Given the description of an element on the screen output the (x, y) to click on. 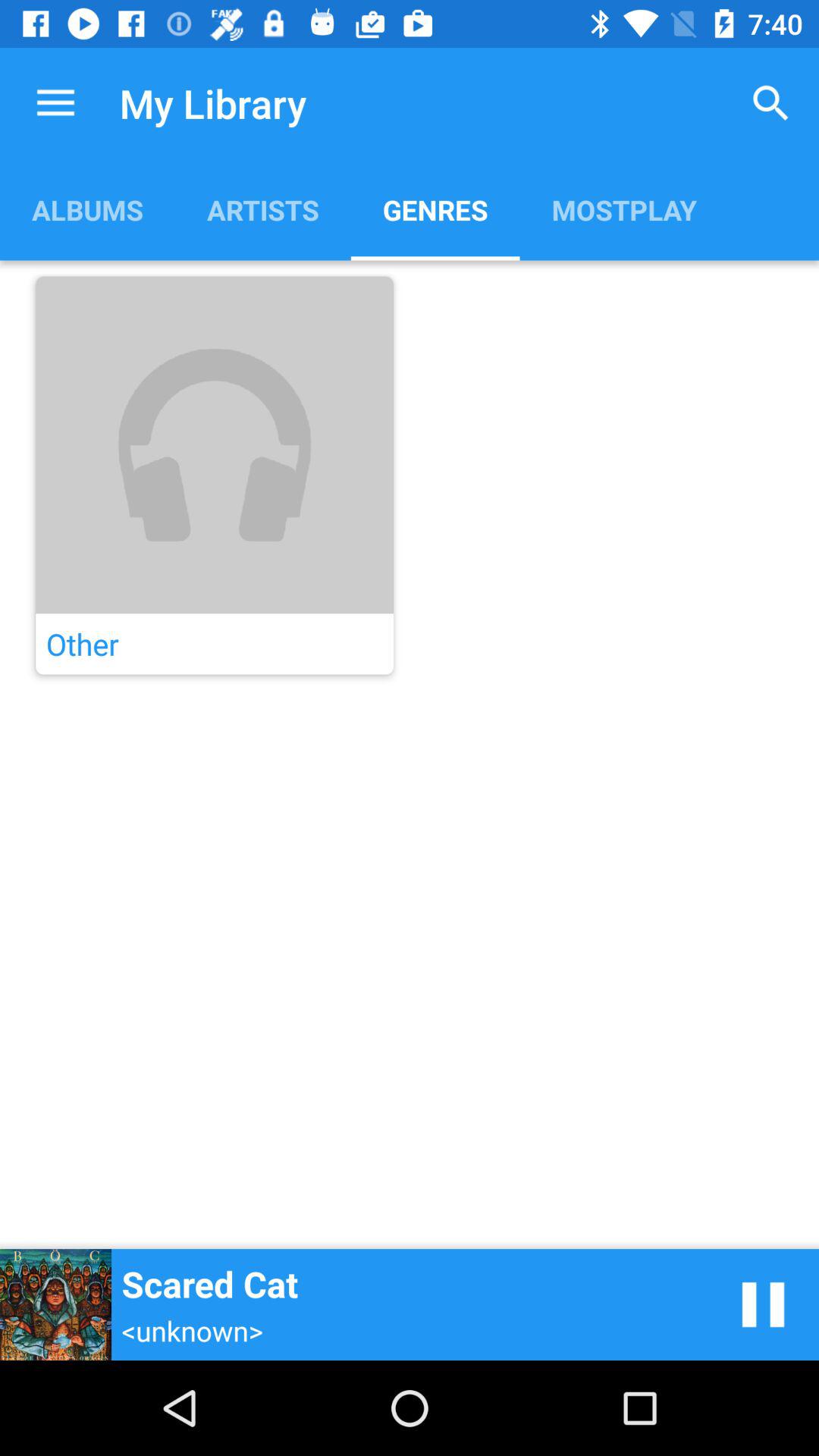
open the app next to the albums (262, 209)
